Given the description of an element on the screen output the (x, y) to click on. 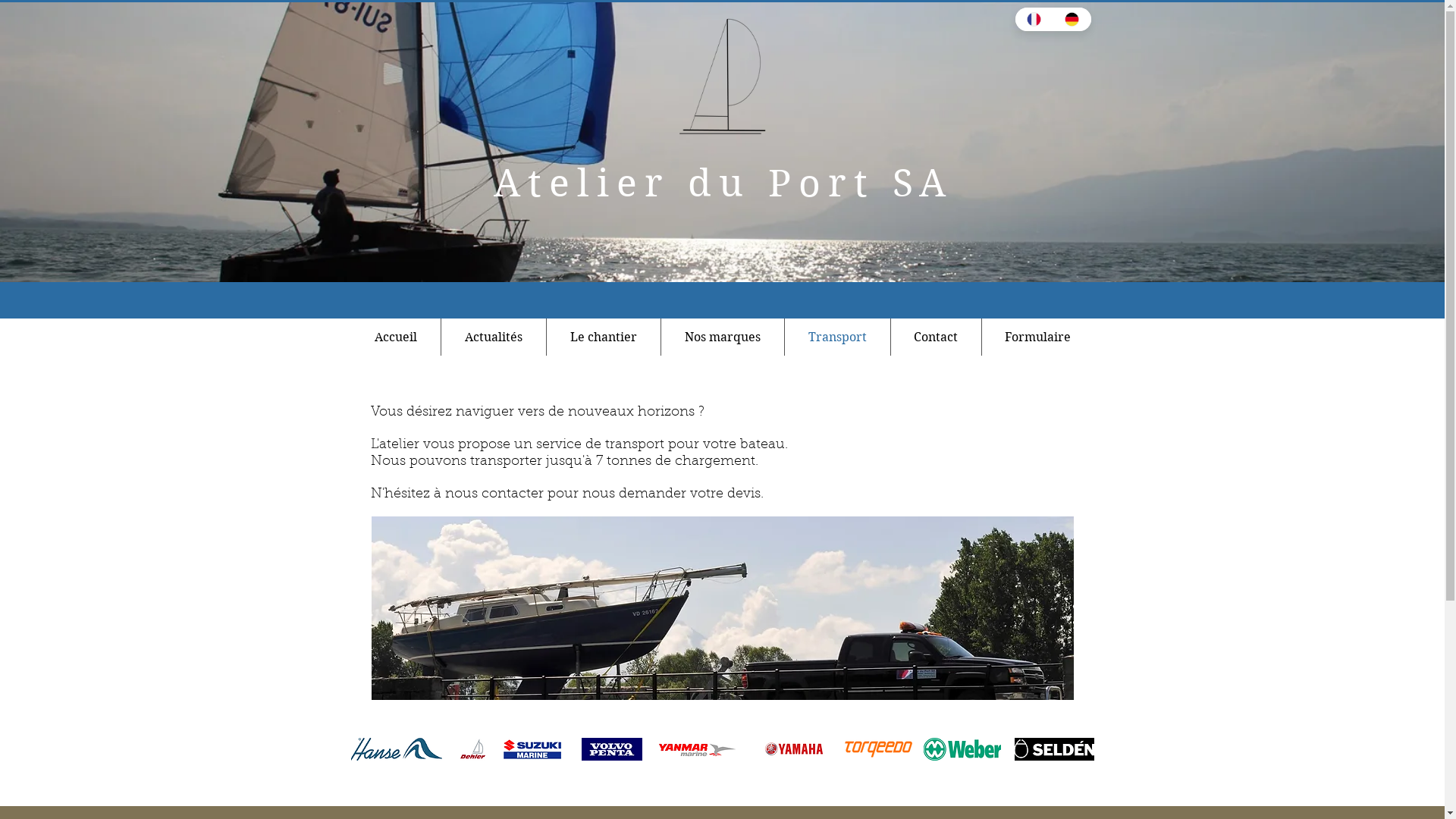
Transport Element type: text (836, 336)
Le chantier Element type: text (602, 336)
Atelier du Port SA Element type: text (722, 182)
Accueil Element type: text (394, 336)
Nos marques Element type: text (722, 336)
Contact Element type: text (935, 336)
Formulaire Element type: text (1037, 336)
